Given the description of an element on the screen output the (x, y) to click on. 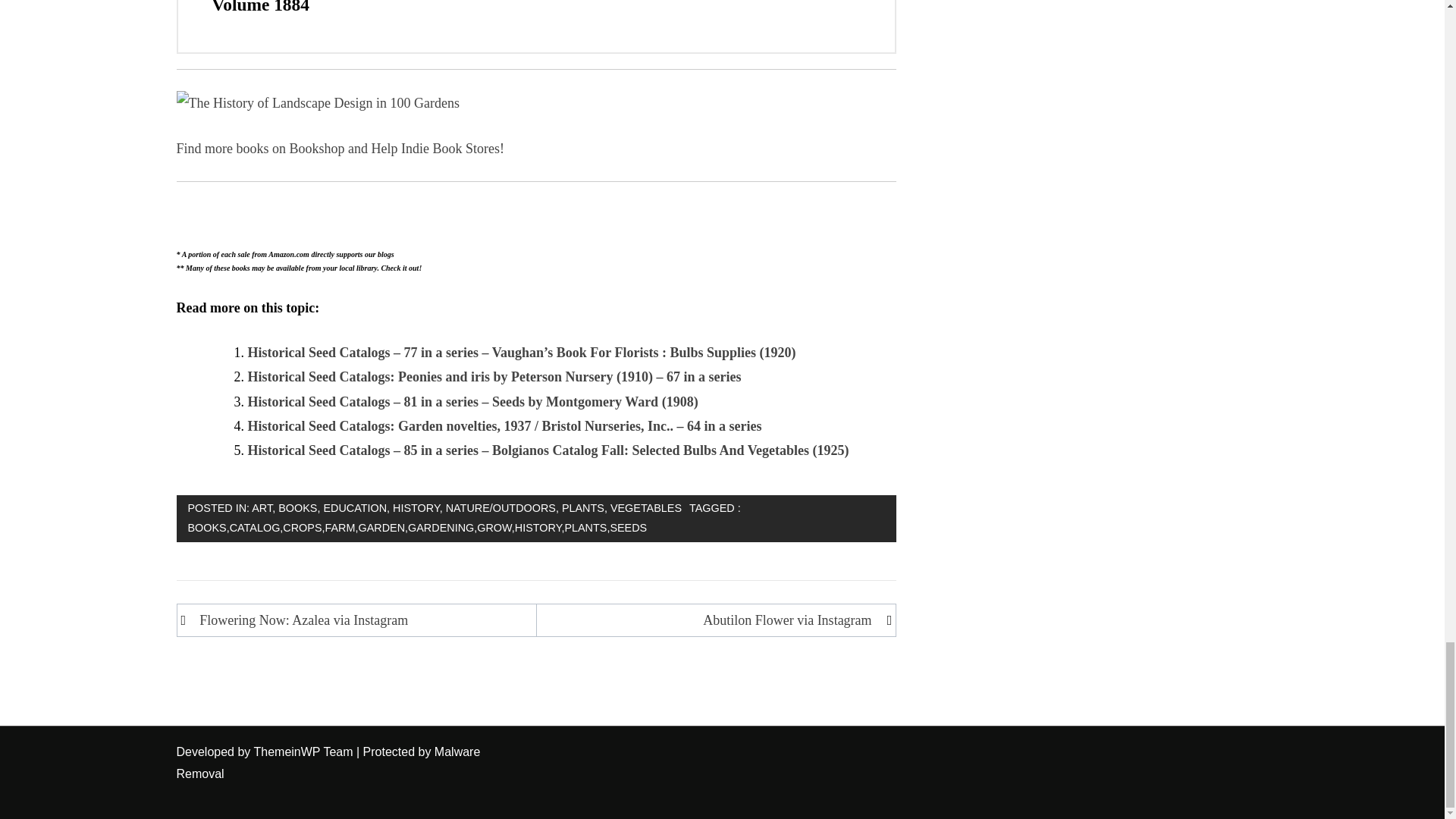
Find more books on Bookshop and Help Indie Book Stores! (339, 148)
